Given the description of an element on the screen output the (x, y) to click on. 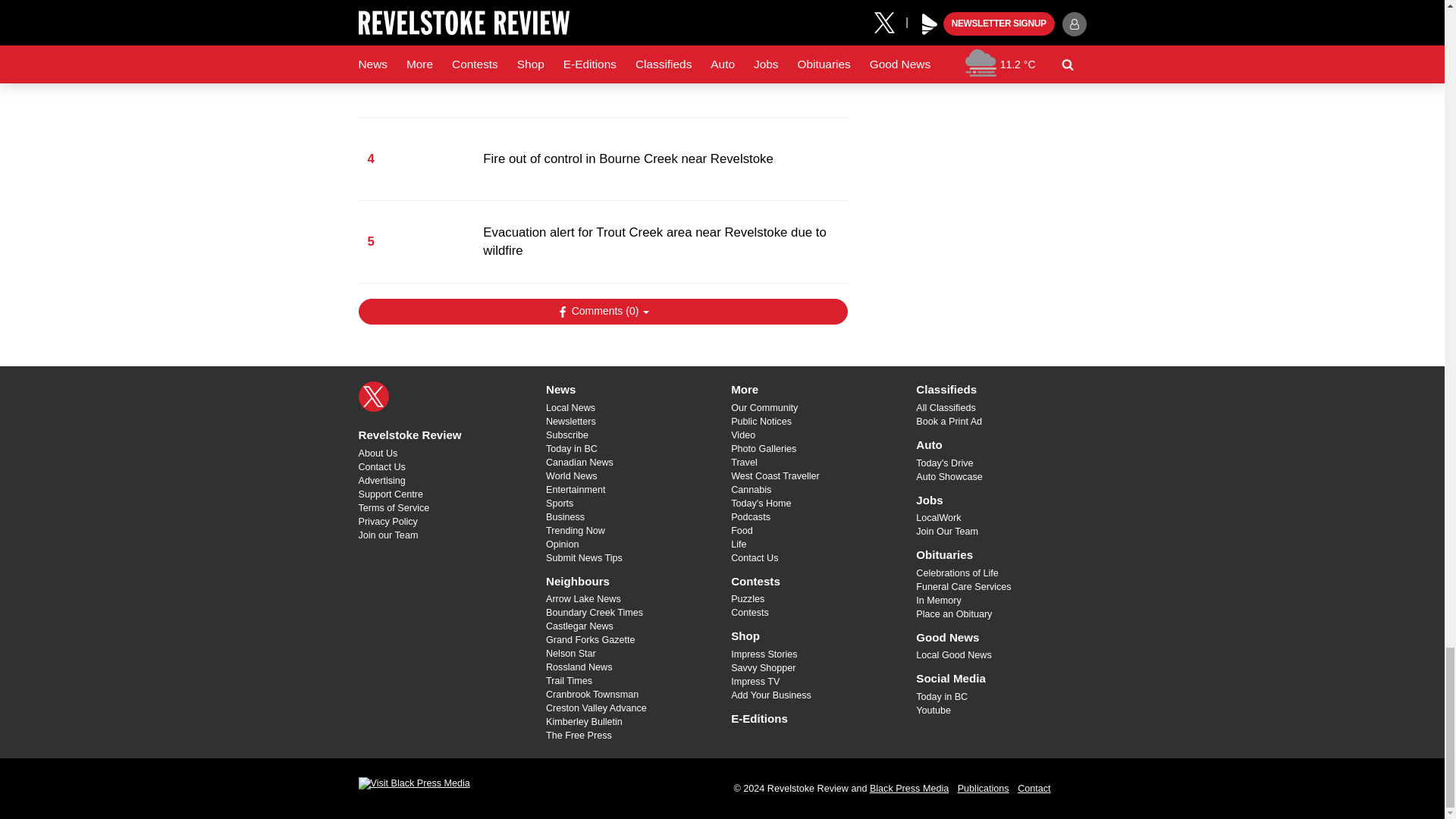
X (373, 396)
Show Comments (602, 311)
